Given the description of an element on the screen output the (x, y) to click on. 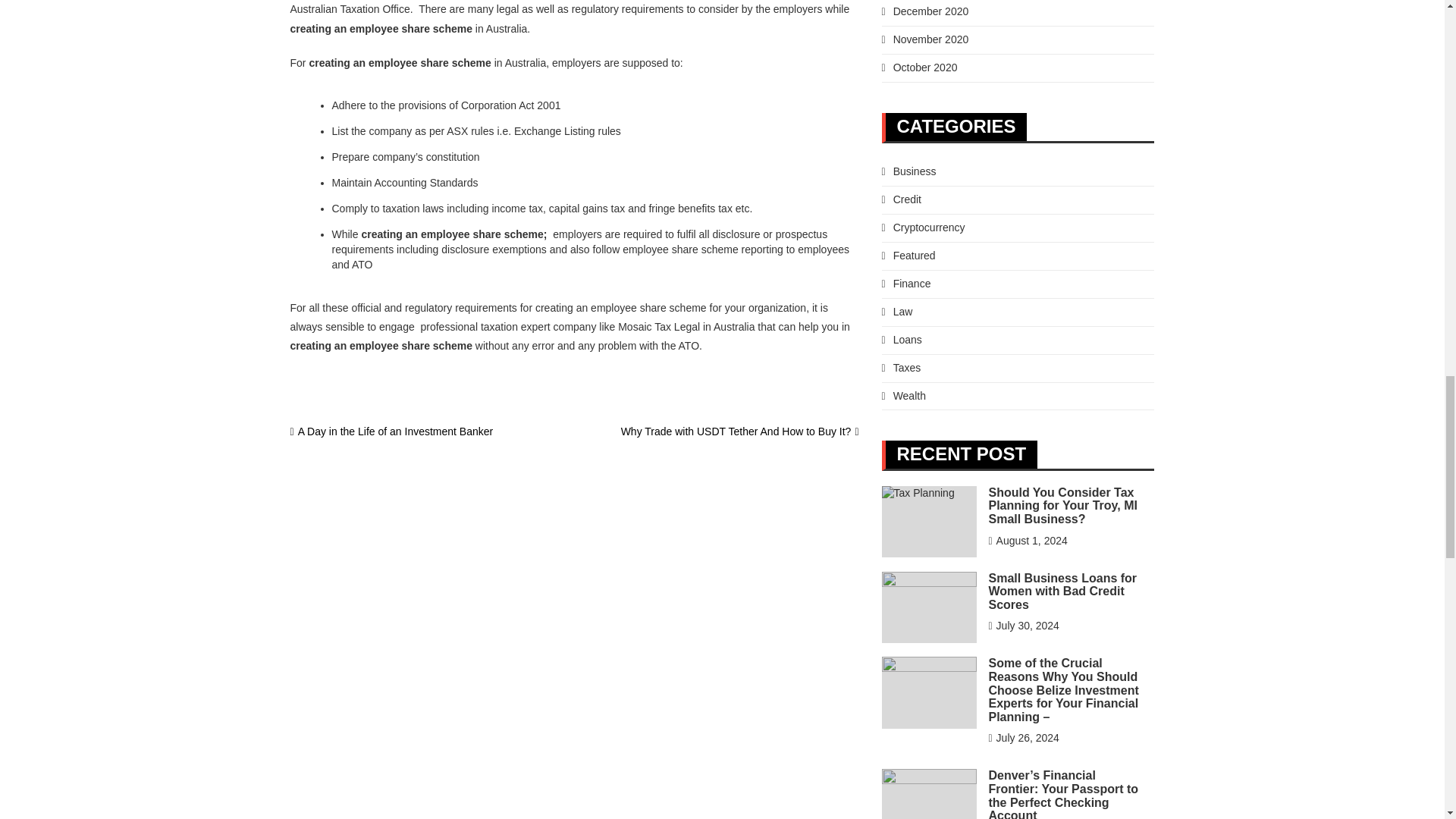
creating an employee share scheme (398, 62)
Why Trade with USDT Tether And How to Buy It? (740, 431)
A Day in the Life of an Investment Banker (391, 431)
